Given the description of an element on the screen output the (x, y) to click on. 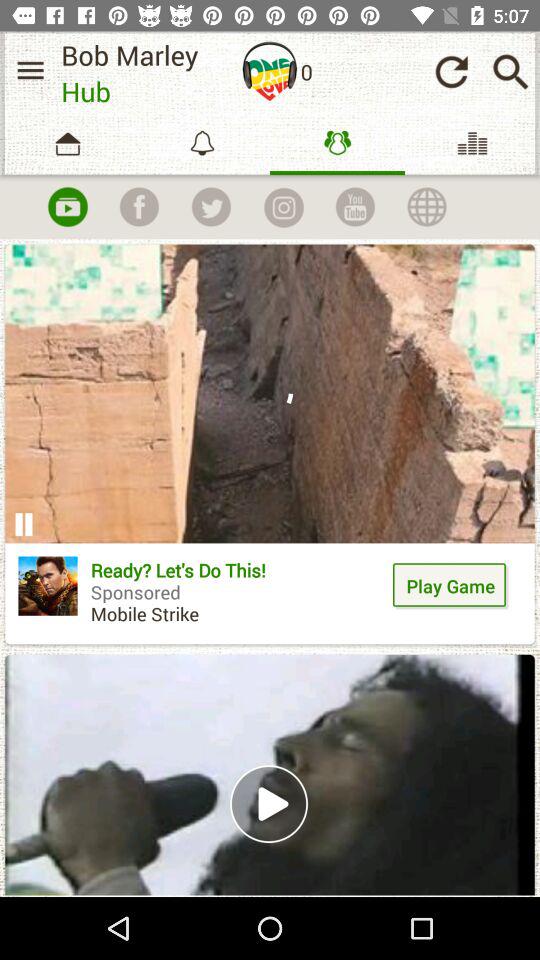
play music (67, 207)
